Given the description of an element on the screen output the (x, y) to click on. 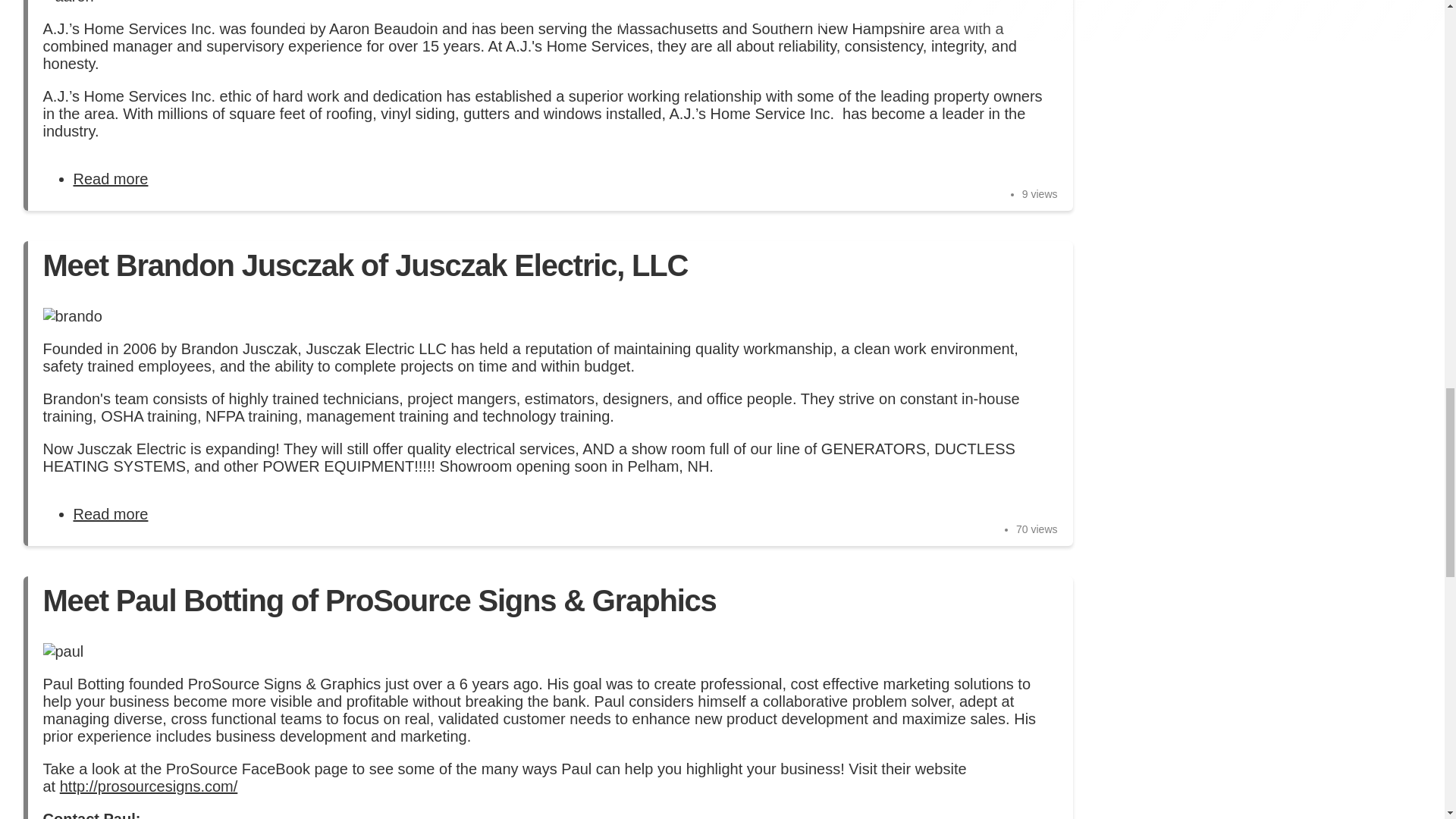
Meet Brandon Jusczak of Jusczak Electric, LLC (364, 264)
Meet Brandon Jusczak of Jusczak Electric, LLC (110, 514)
brando (110, 178)
aaron (71, 316)
Meet Aaron Beaudoin of AJ's Home Services (67, 2)
